Given the description of an element on the screen output the (x, y) to click on. 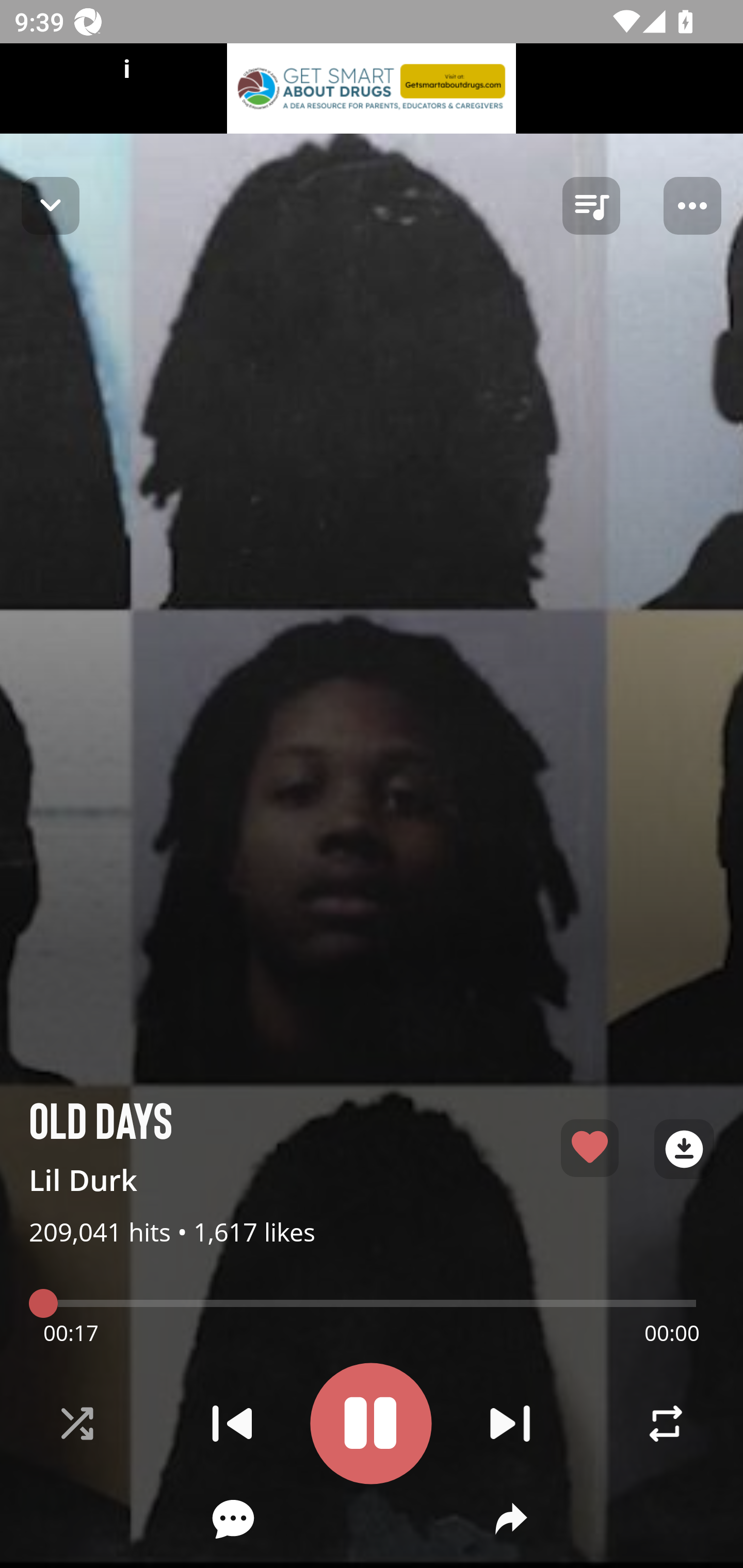
Navigate up (50, 205)
queue (590, 206)
Player options (692, 206)
